Given the description of an element on the screen output the (x, y) to click on. 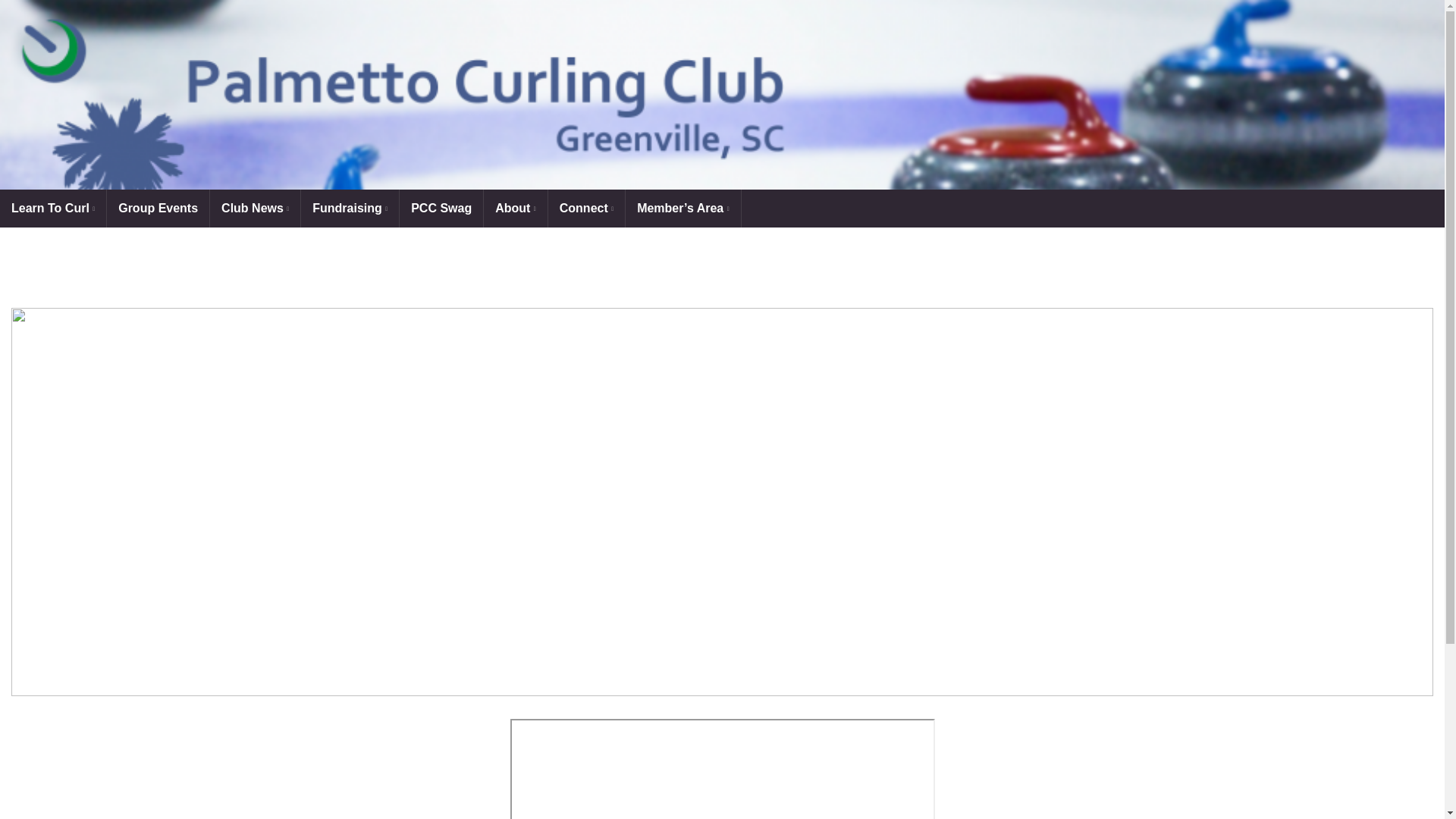
Fundraising (349, 208)
Learn To Curl (53, 208)
Group Events (157, 208)
PCC Swag (440, 208)
Connect (586, 208)
Club News (254, 208)
About (515, 208)
